Given the description of an element on the screen output the (x, y) to click on. 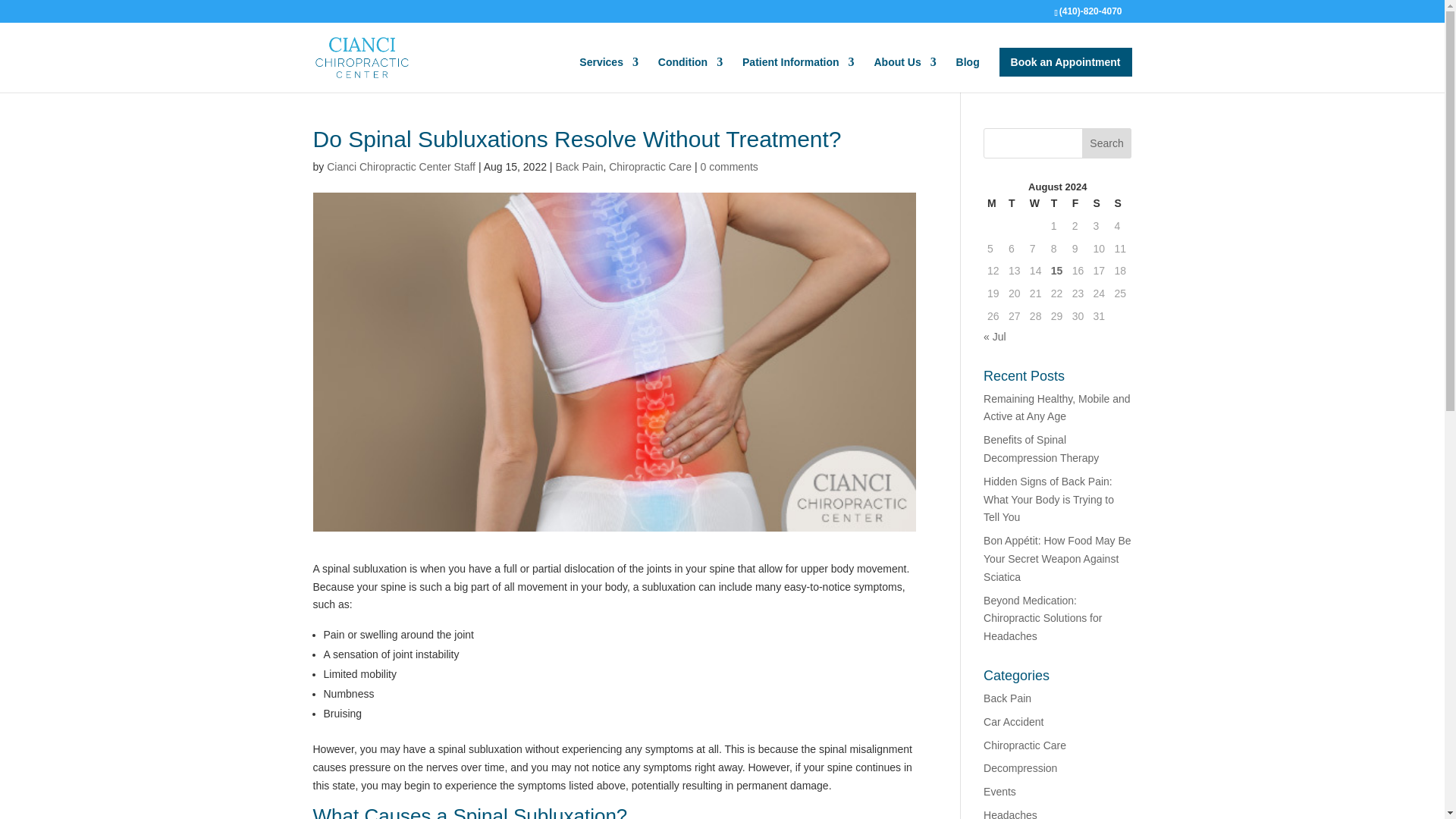
Book an Appointment (1065, 61)
Patient Information (798, 74)
0 comments (729, 166)
Services (609, 74)
Sunday (1120, 203)
Posts by Cianci Chiropractic Center Staff (401, 166)
Wednesday (1036, 203)
Search (1106, 142)
Tuesday (1015, 203)
About Us (904, 74)
